Given the description of an element on the screen output the (x, y) to click on. 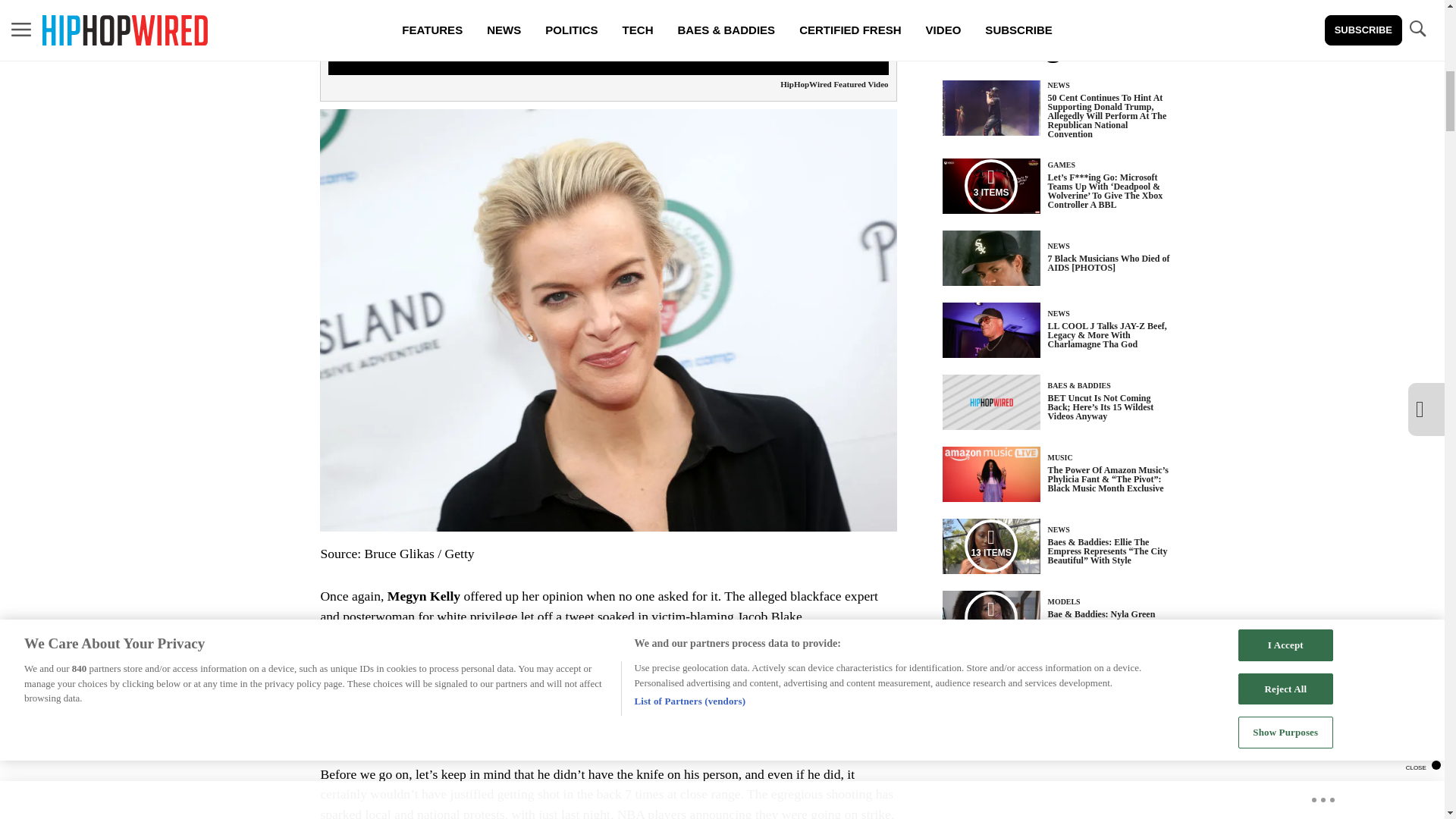
Media Playlist (990, 545)
Media Playlist (990, 617)
Media Playlist (990, 185)
